Given the description of an element on the screen output the (x, y) to click on. 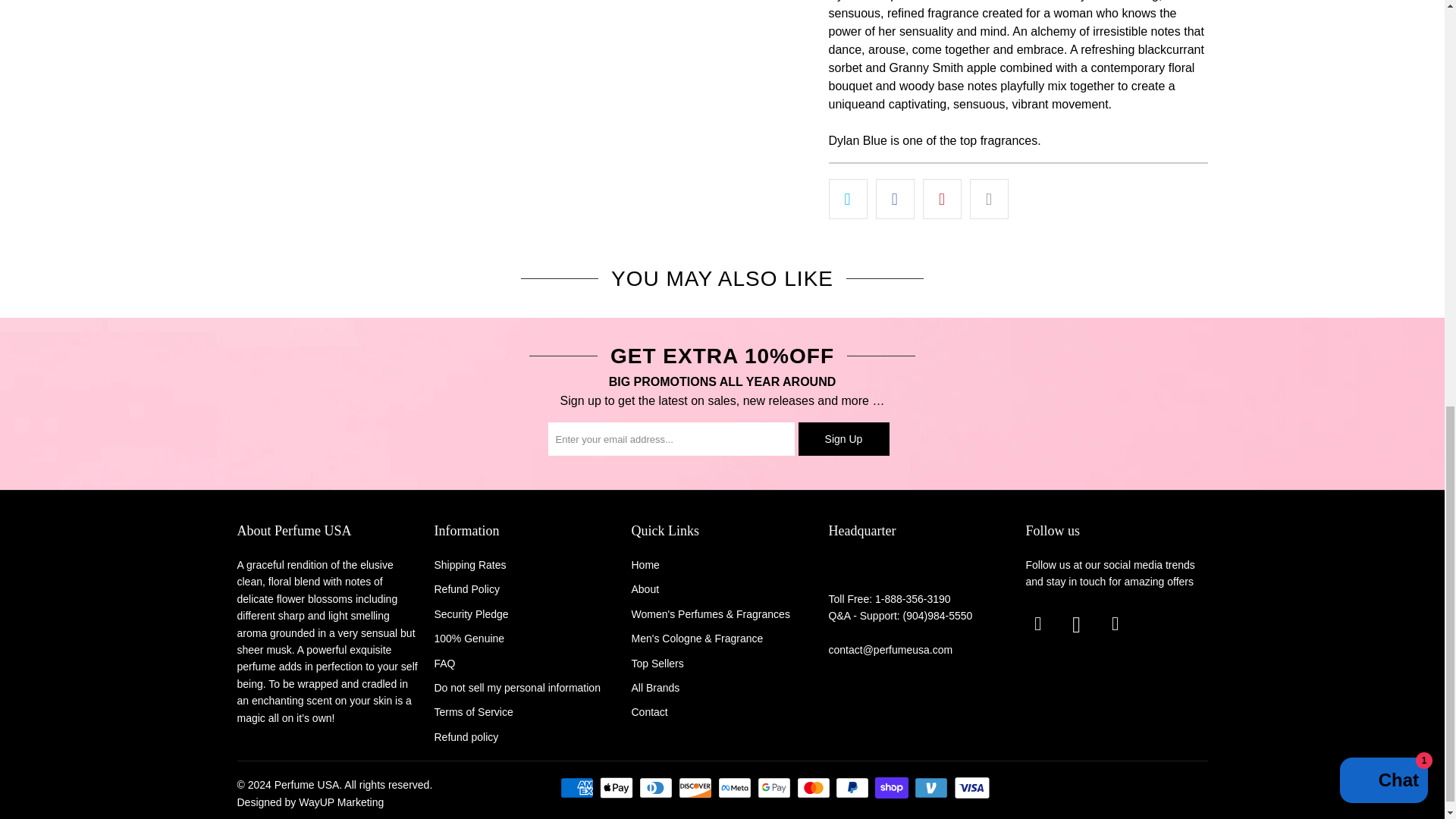
Email this to a friend (989, 198)
Diners Club (657, 787)
Perfume USA on Instagram (1076, 624)
American Express (578, 787)
Perfume USA on Facebook (1038, 623)
Meta Pay (735, 787)
Sign Up (842, 438)
Share this on Pinterest (941, 198)
Share this on Facebook (895, 198)
Share this on Twitter (847, 198)
Perfume USA on Pinterest (1115, 623)
Shop Pay (893, 787)
Discover (696, 787)
Google Pay (775, 787)
Venmo (932, 787)
